Given the description of an element on the screen output the (x, y) to click on. 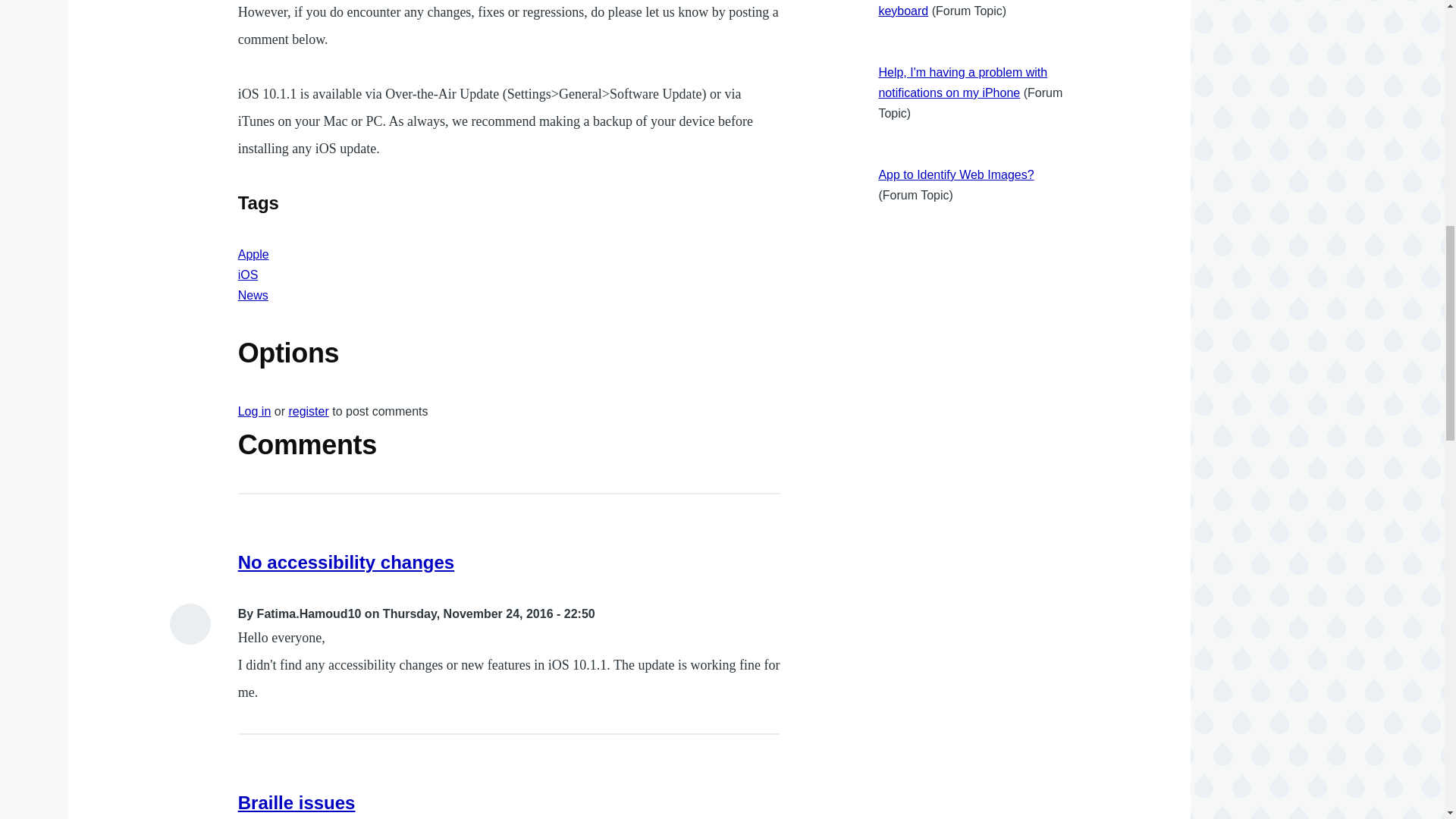
No accessibility changes (346, 562)
register (308, 410)
Log in (254, 410)
Braille issues (296, 802)
iOS (248, 274)
Apple (253, 254)
Help, I'm having a problem with notifications on my iPhone (961, 82)
News (252, 295)
